Given the description of an element on the screen output the (x, y) to click on. 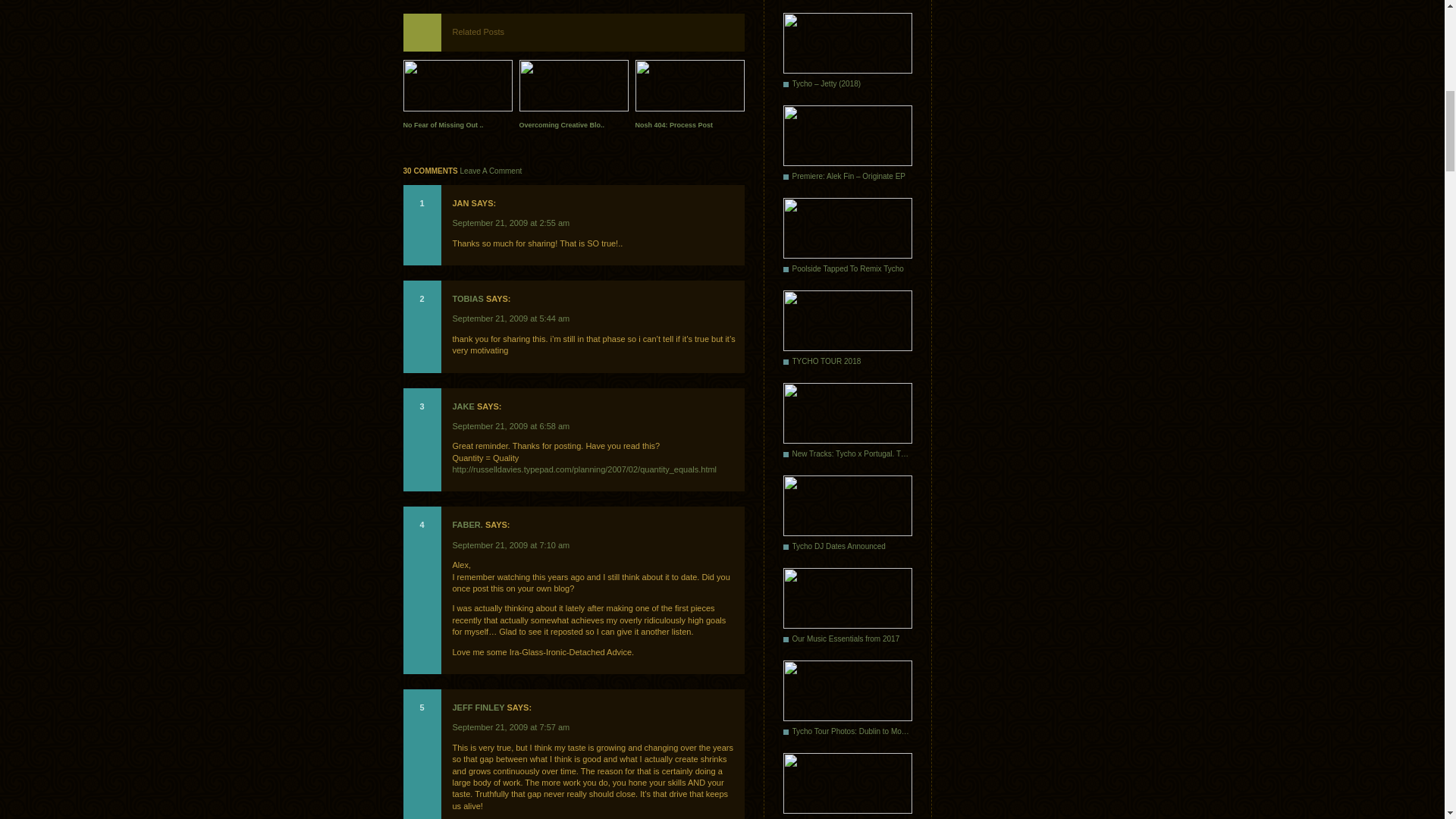
Leave A Comment (491, 171)
Nosh 404: Process Post (689, 97)
September 21, 2009 at 6:58 am (510, 425)
No Fear of Missing Out .. (457, 97)
JEFF FINLEY (477, 706)
September 21, 2009 at 5:44 am (510, 317)
JAKE (462, 406)
FABER. (466, 524)
September 21, 2009 at 7:57 am (510, 727)
September 21, 2009 at 2:55 am (510, 222)
September 21, 2009 at 7:10 am (510, 544)
TOBIAS (467, 298)
Overcoming Creative Blo.. (572, 97)
